Given the description of an element on the screen output the (x, y) to click on. 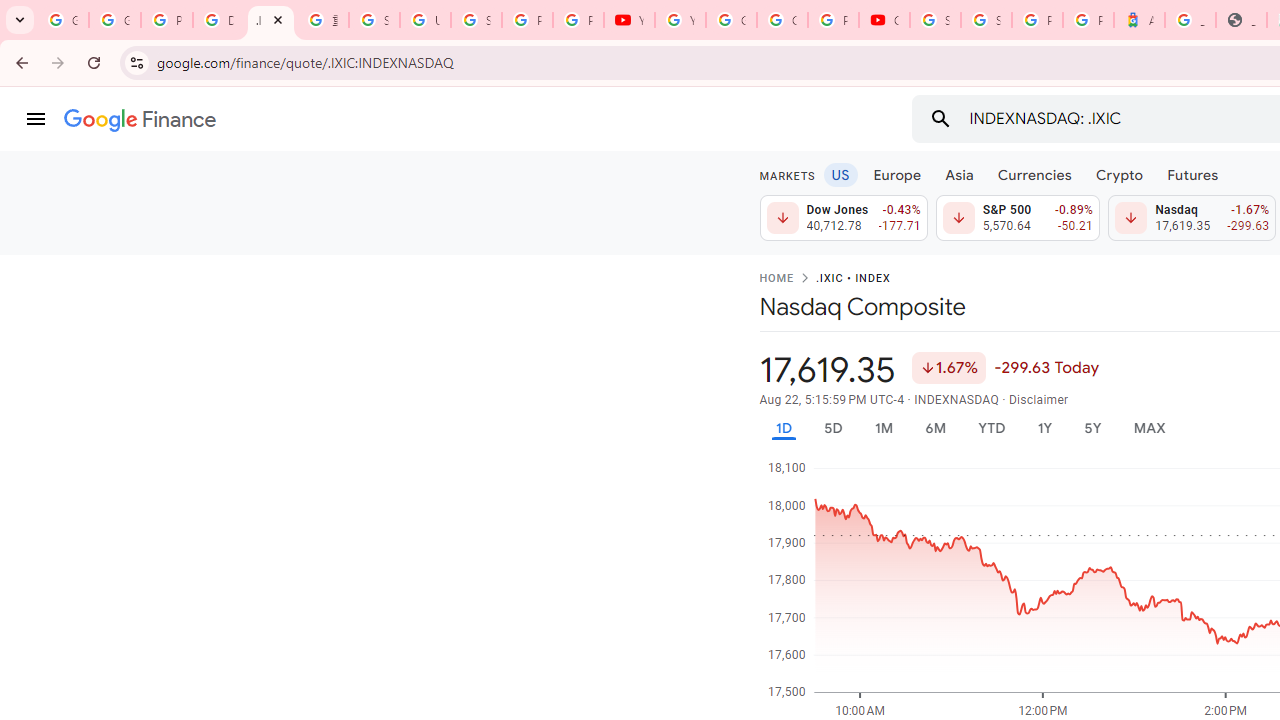
1D (783, 427)
Currencies (1034, 174)
US (840, 174)
1M (882, 427)
Futures (1192, 174)
HOME (776, 279)
Privacy Checkup (578, 20)
